Given the description of an element on the screen output the (x, y) to click on. 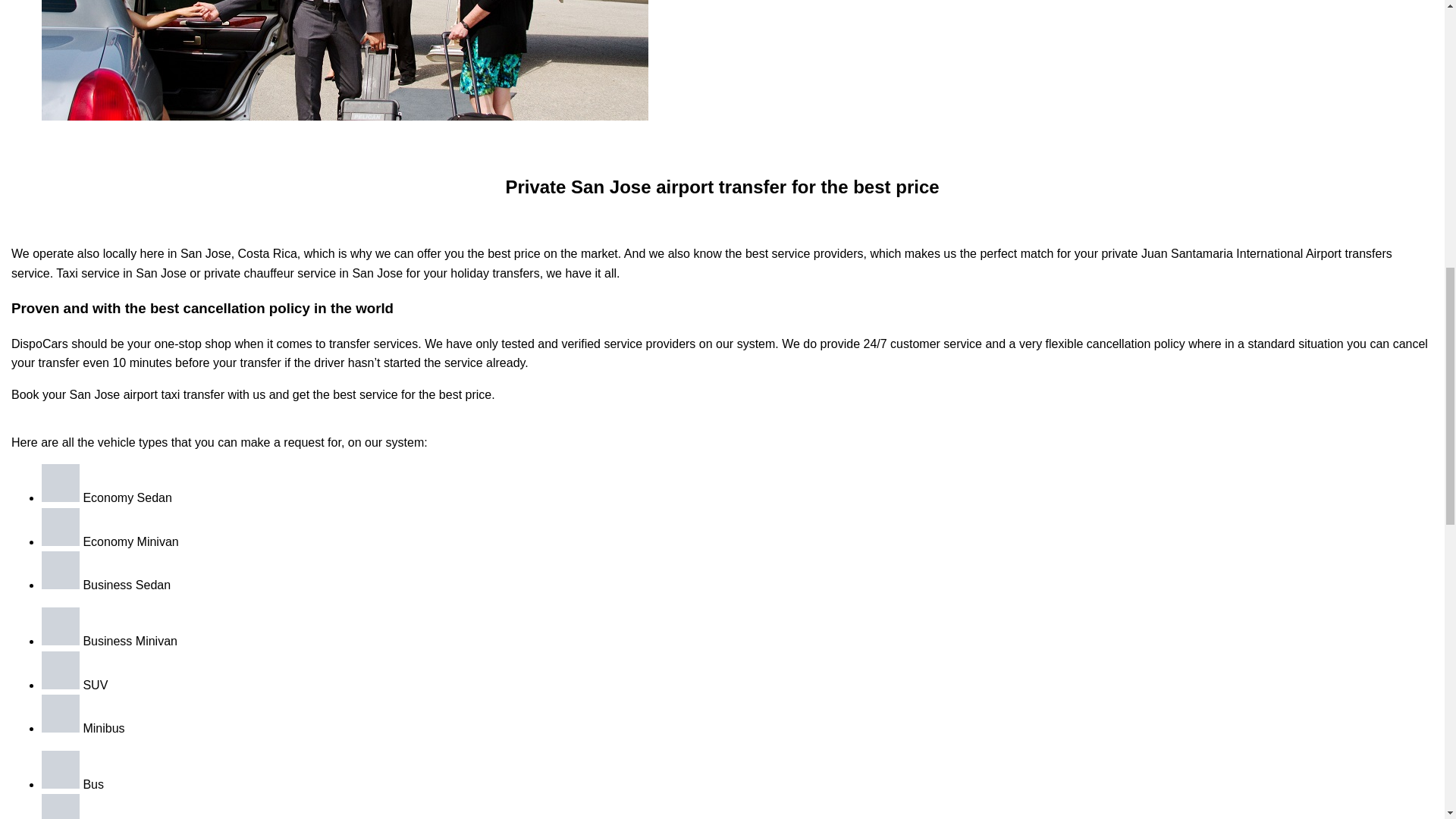
Diva arrives at private jet (344, 60)
DispoCars (39, 343)
